Given the description of an element on the screen output the (x, y) to click on. 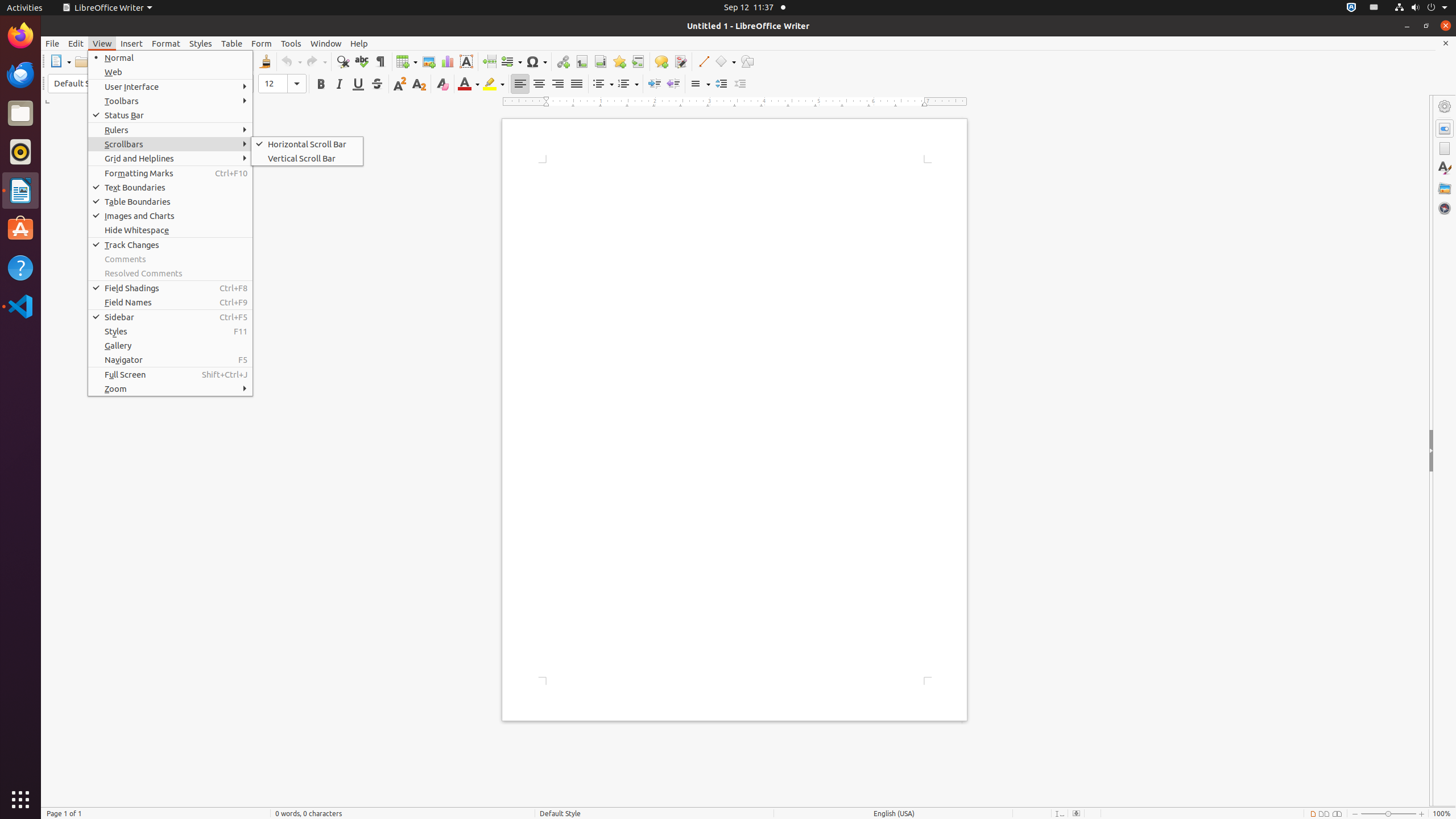
Page Element type: radio-button (1444, 148)
Formatting Marks Element type: toggle-button (379, 61)
Help Element type: push-button (20, 267)
Scrollbars Element type: menu (170, 144)
Images and Charts Element type: check-menu-item (170, 215)
